Given the description of an element on the screen output the (x, y) to click on. 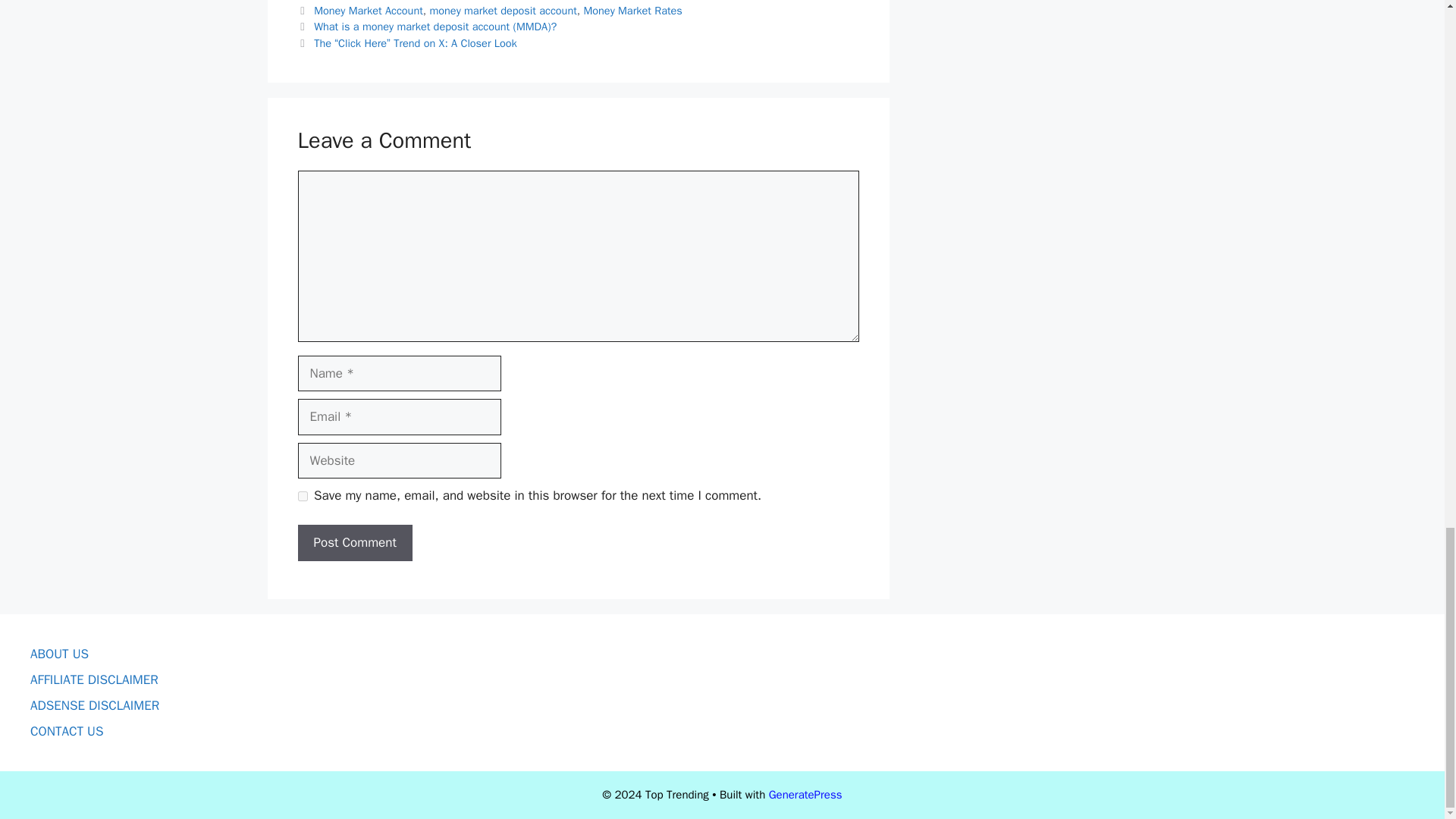
Money Market Account (368, 10)
ADSENSE DISCLAIMER (94, 705)
CONTACT US (66, 731)
ABOUT US (59, 653)
Post Comment (354, 542)
GeneratePress (805, 794)
yes (302, 496)
Post Comment (354, 542)
AFFILIATE DISCLAIMER (94, 679)
